Given the description of an element on the screen output the (x, y) to click on. 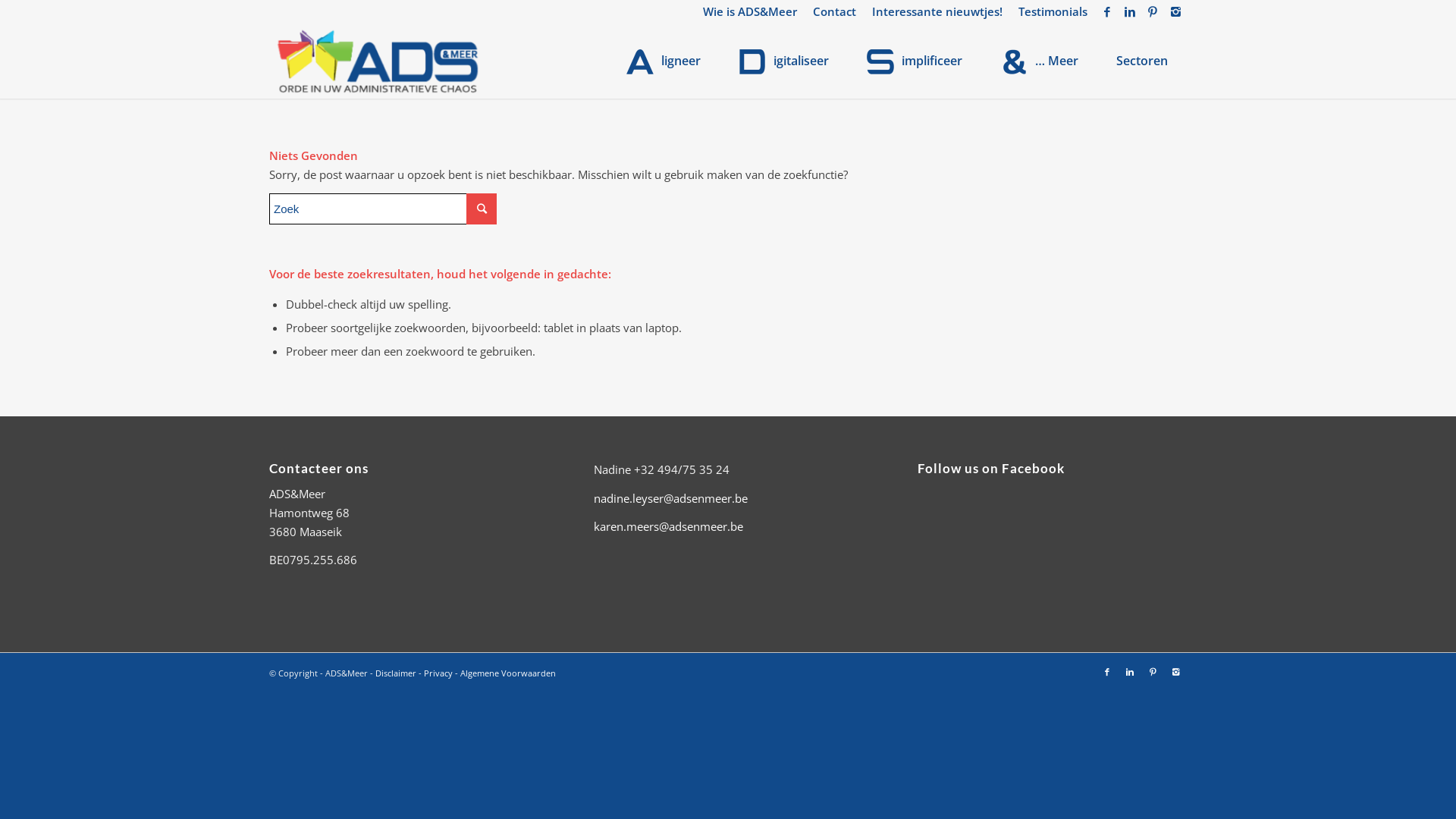
Privacy Element type: text (437, 672)
Disclaimer Element type: text (395, 672)
Instagram Element type: hover (1175, 671)
karen.meers@adsenmeer.be Element type: text (668, 525)
Algemene Voorwaarden Element type: text (507, 672)
Instagram Element type: hover (1175, 11)
nadine.leyser@adsenmeer.be Element type: text (670, 497)
Linkedin Element type: hover (1129, 671)
Facebook Element type: hover (1106, 11)
igitaliseer Element type: text (783, 60)
implificeer Element type: text (914, 60)
Pinterest Element type: hover (1152, 11)
Sectoren Element type: text (1141, 60)
Pinterest Element type: hover (1152, 671)
ligneer Element type: text (663, 60)
Linkedin Element type: hover (1129, 11)
Facebook Element type: hover (1106, 671)
